Given the description of an element on the screen output the (x, y) to click on. 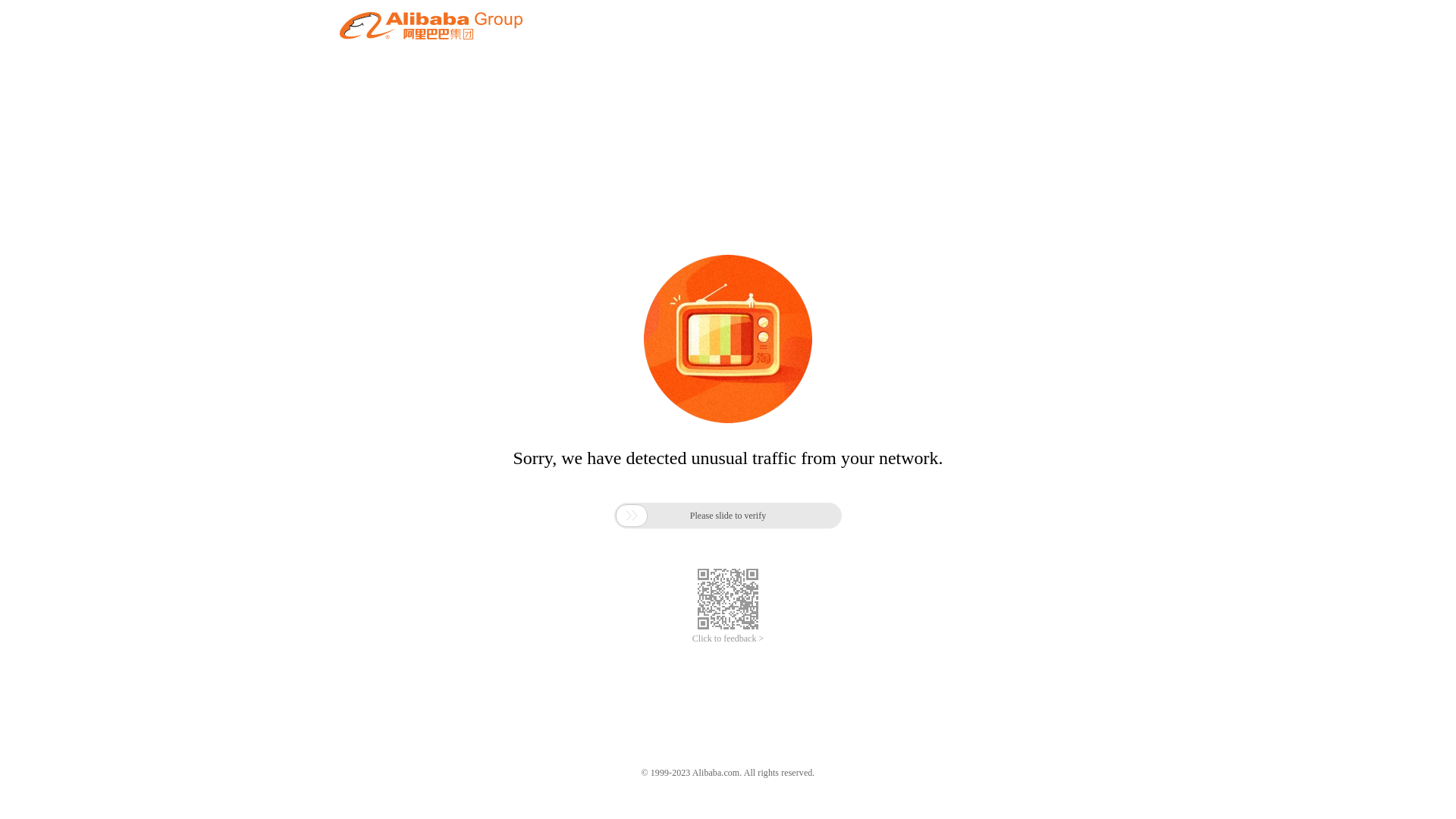
Click to feedback > Element type: text (727, 638)
